Given the description of an element on the screen output the (x, y) to click on. 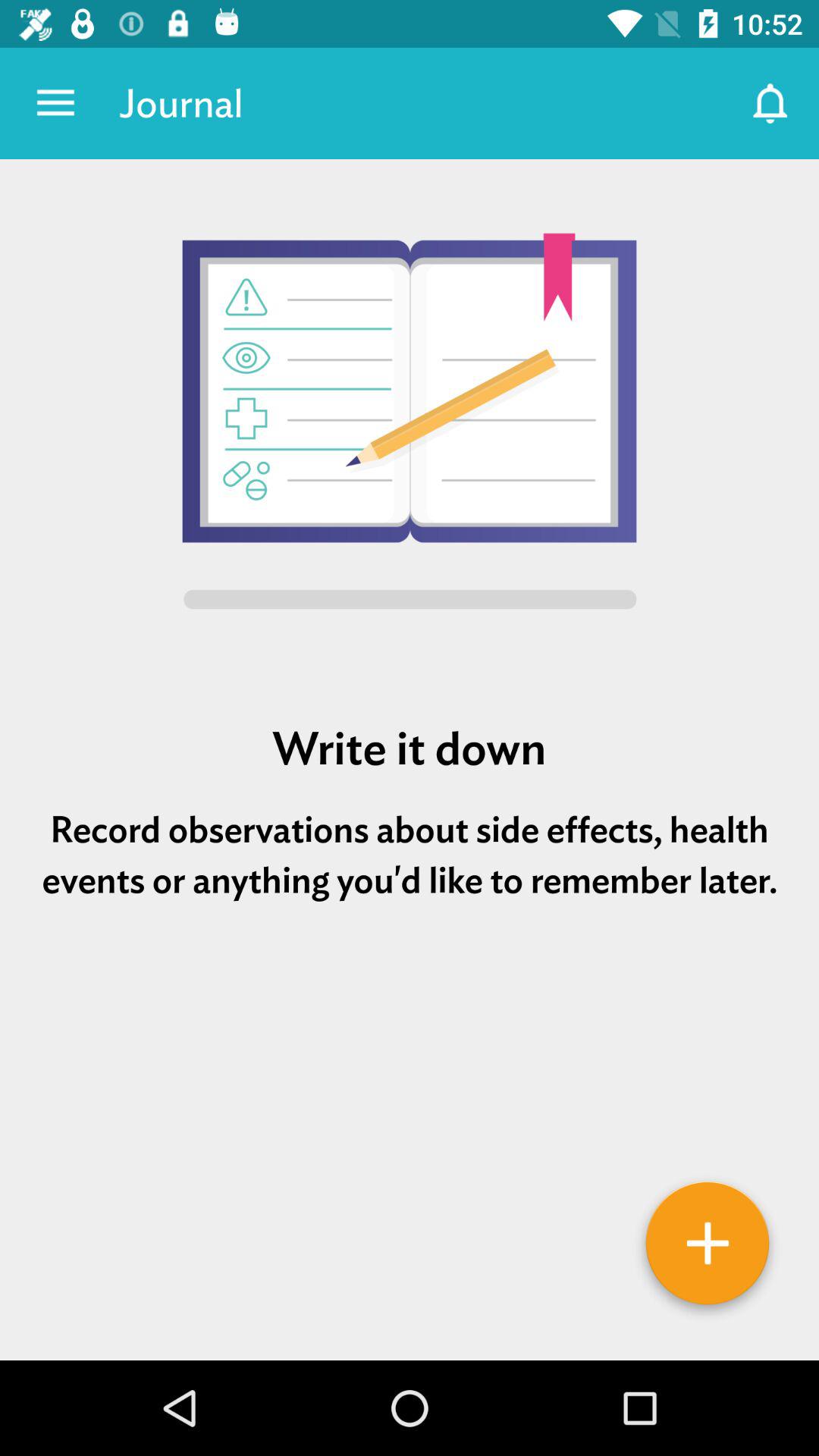
press the icon to the left of the journal item (55, 103)
